Given the description of an element on the screen output the (x, y) to click on. 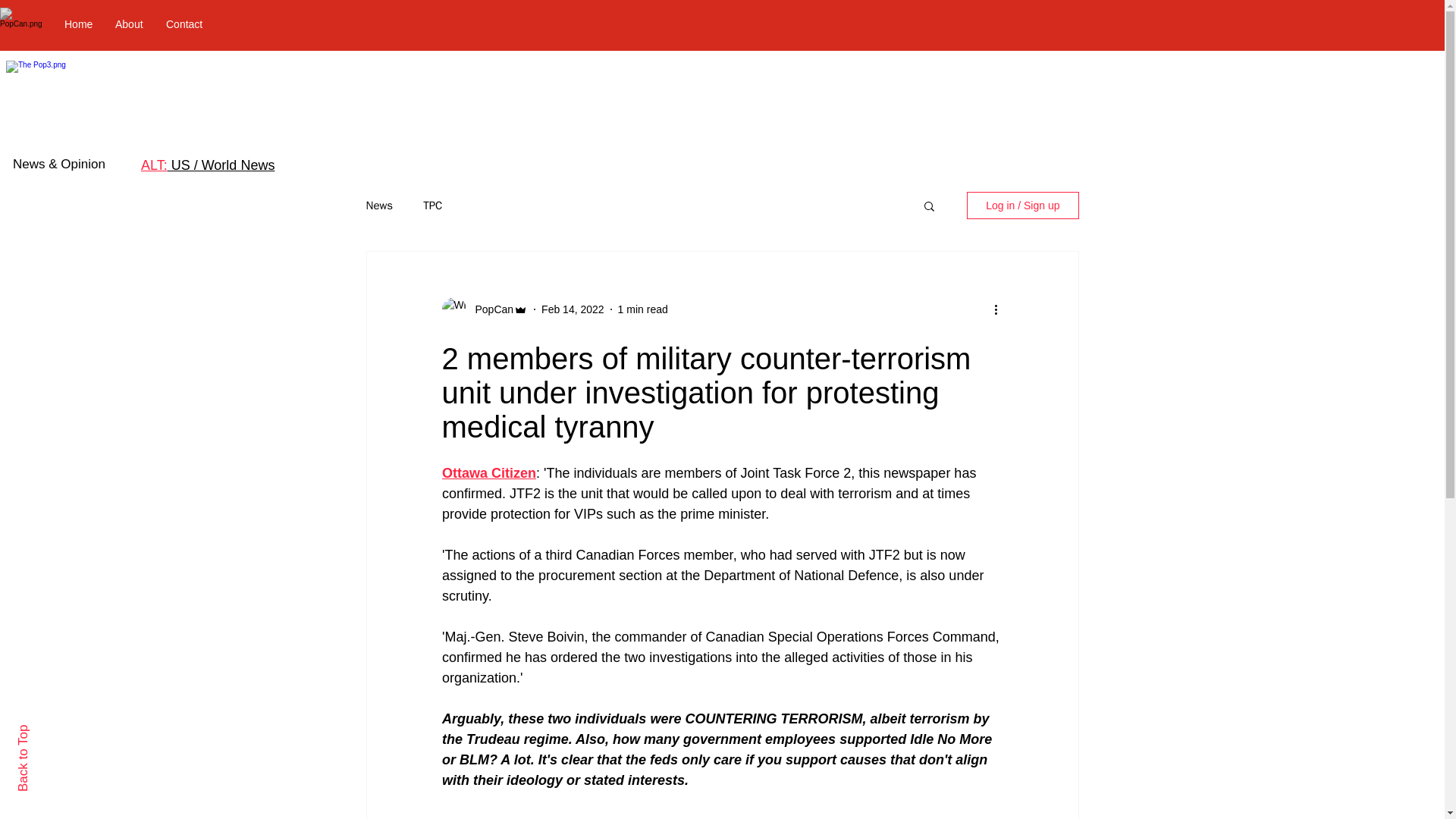
News (379, 205)
Feb 14, 2022 (572, 309)
Back to Top (49, 730)
PopCan (489, 309)
Home (77, 24)
Contact (184, 24)
TPC (432, 205)
Ottawa Citizen (488, 473)
About (128, 24)
1 min read (642, 309)
